Given the description of an element on the screen output the (x, y) to click on. 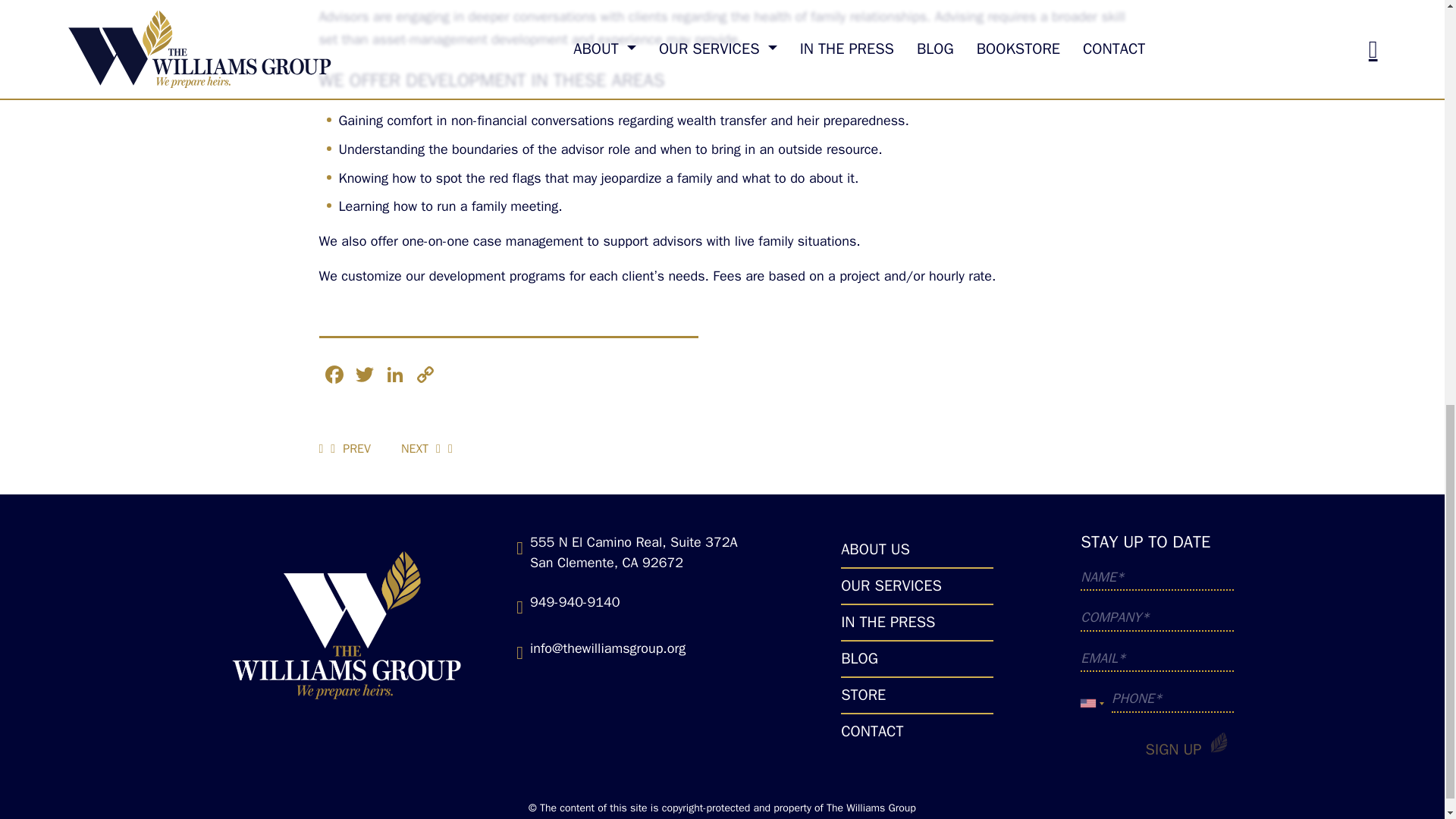
Twitter (363, 376)
Copy Link (424, 376)
PREV (350, 448)
Facebook (333, 376)
LinkedIn (393, 376)
NEXT (421, 448)
555 N El Camino Real, Suite 372A San Clemente, CA 92672 (633, 551)
949-940-9140 (574, 601)
